Given the description of an element on the screen output the (x, y) to click on. 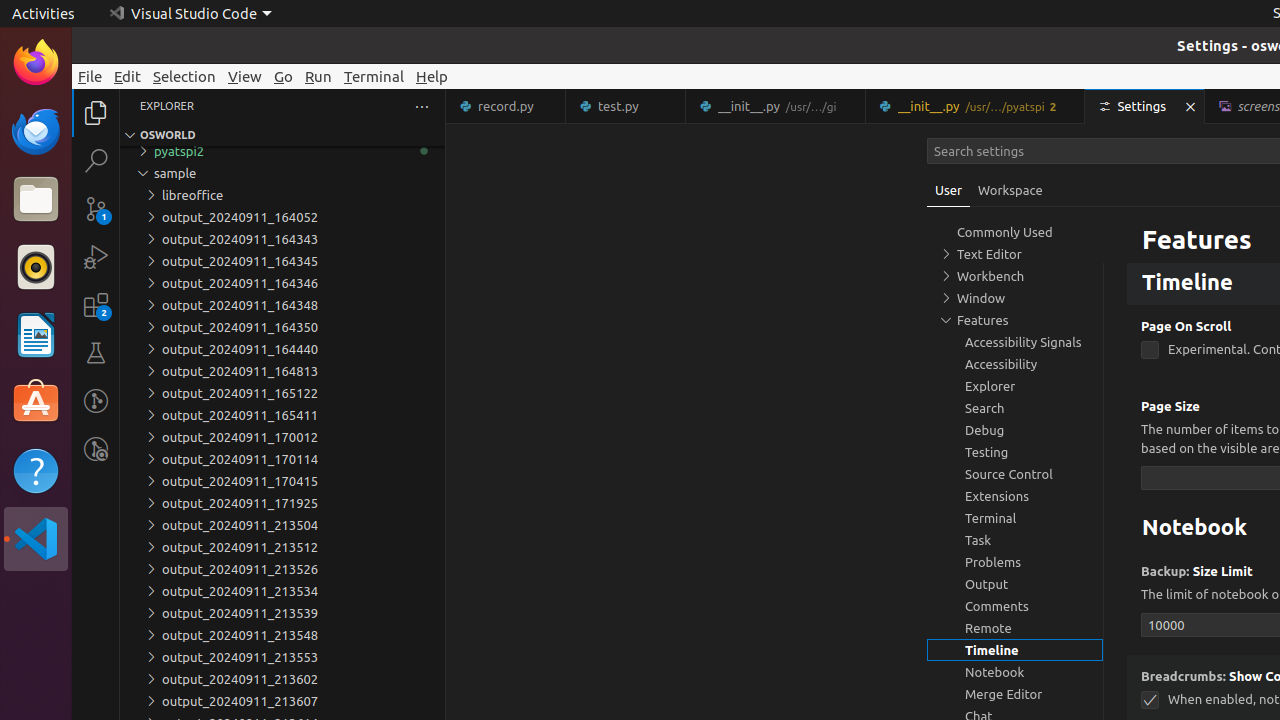
output_20240911_213553 Element type: tree-item (282, 657)
Window, group Element type: tree-item (1015, 298)
Timeline, group Element type: tree-item (1015, 650)
Explorer, group Element type: tree-item (1015, 386)
notebook.breadcrumbs.showCodeCells Element type: check-box (1150, 700)
